Given the description of an element on the screen output the (x, y) to click on. 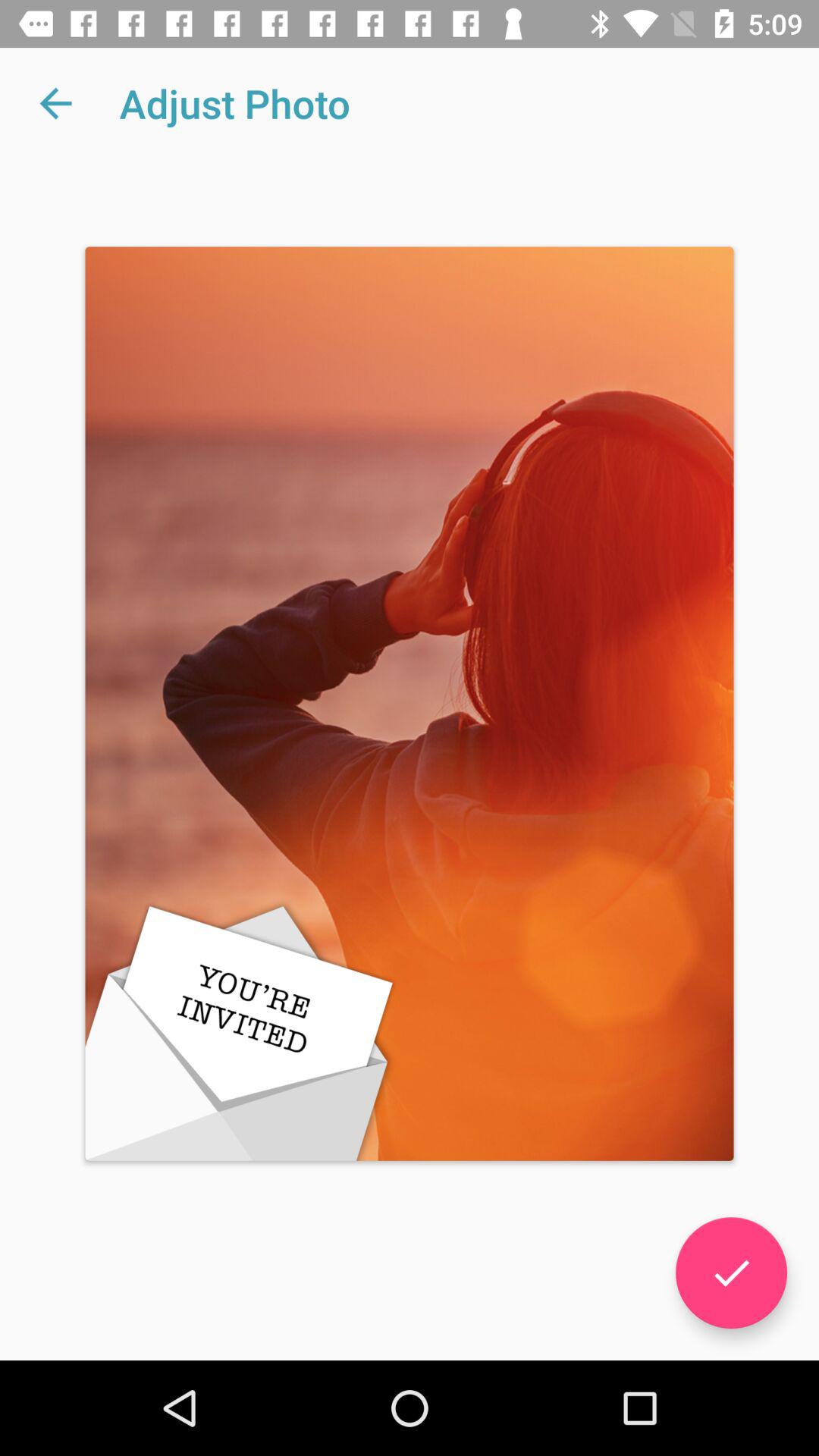
press item at the bottom right corner (731, 1272)
